Given the description of an element on the screen output the (x, y) to click on. 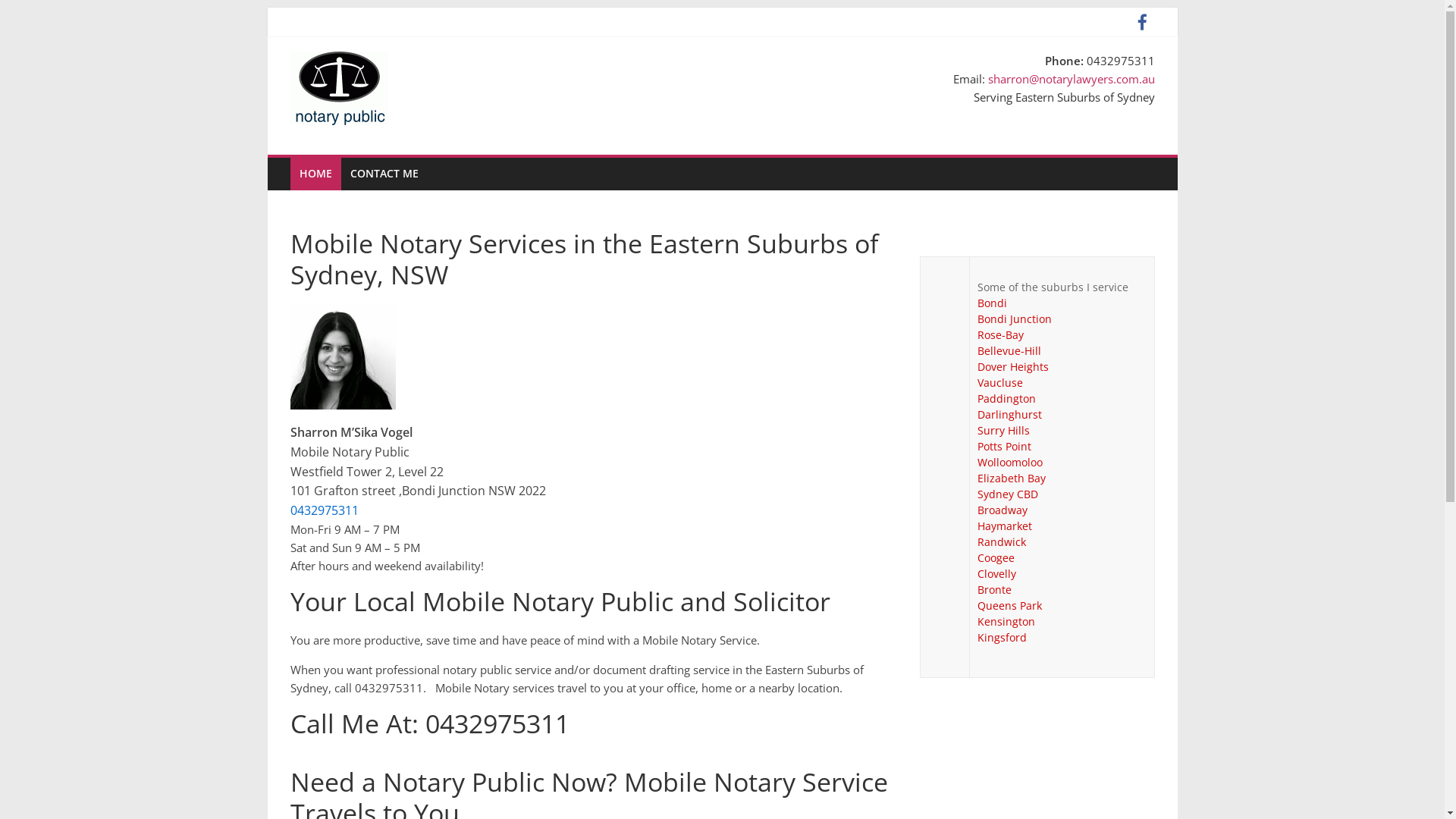
Skip to content Element type: text (266, 6)
Mobile Notary Services in the Eastern Suburbs of Sydney, NSW Element type: text (356, 259)
HOME Element type: text (314, 173)
CONTACT ME Element type: text (384, 173)
0432975311 Element type: text (323, 510)
sharron@notarylawyers.com.au Element type: text (1070, 78)
